Given the description of an element on the screen output the (x, y) to click on. 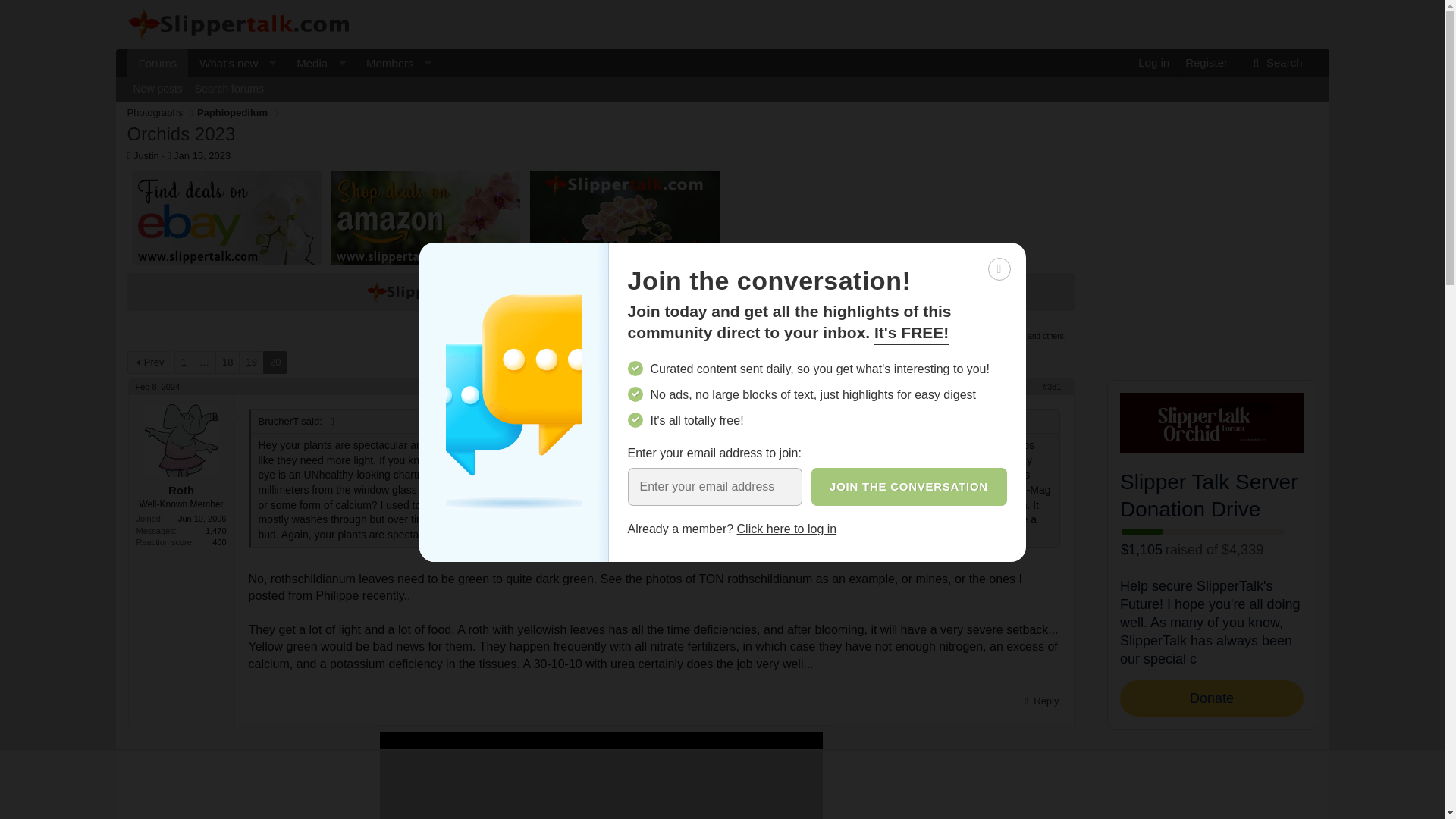
What's new (223, 62)
Jan 15, 2023 (201, 155)
Donate (809, 291)
Register (1205, 62)
PayPal - The safer, easier way to pay online! (809, 291)
JOIN THE CONVERSATION (908, 486)
Photographs (155, 112)
Reply, quoting this message (722, 105)
Media (288, 80)
New posts (1039, 701)
Search forums (307, 62)
Paphiopedilum (158, 88)
